Given the description of an element on the screen output the (x, y) to click on. 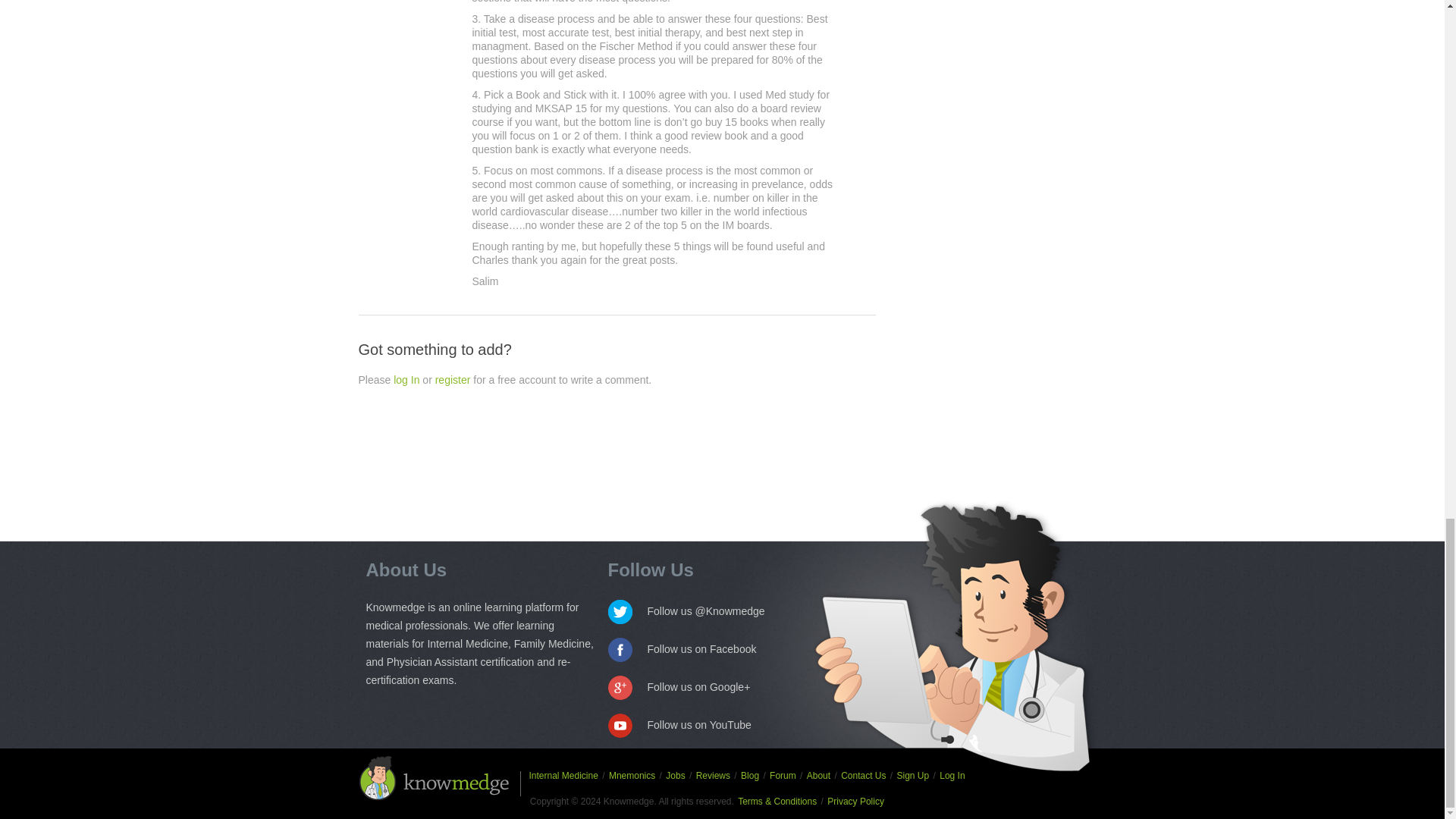
log In (406, 379)
register (452, 379)
